Given the description of an element on the screen output the (x, y) to click on. 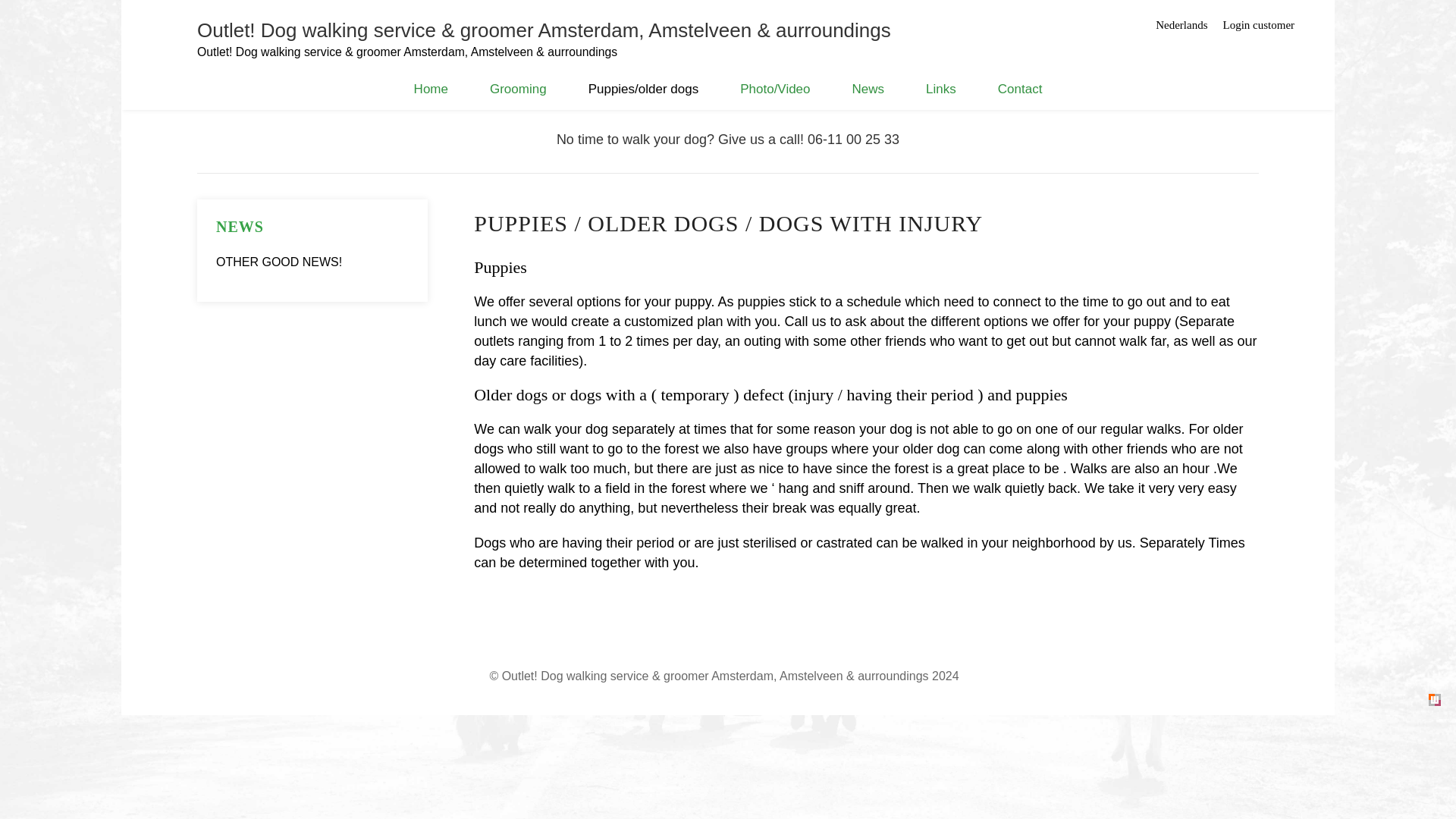
Login customer (1259, 24)
Home (430, 89)
Grooming (518, 89)
OTHER GOOD NEWS! (278, 261)
Nederlands (1181, 24)
News (868, 89)
Contact (1019, 89)
Links (941, 89)
